Given the description of an element on the screen output the (x, y) to click on. 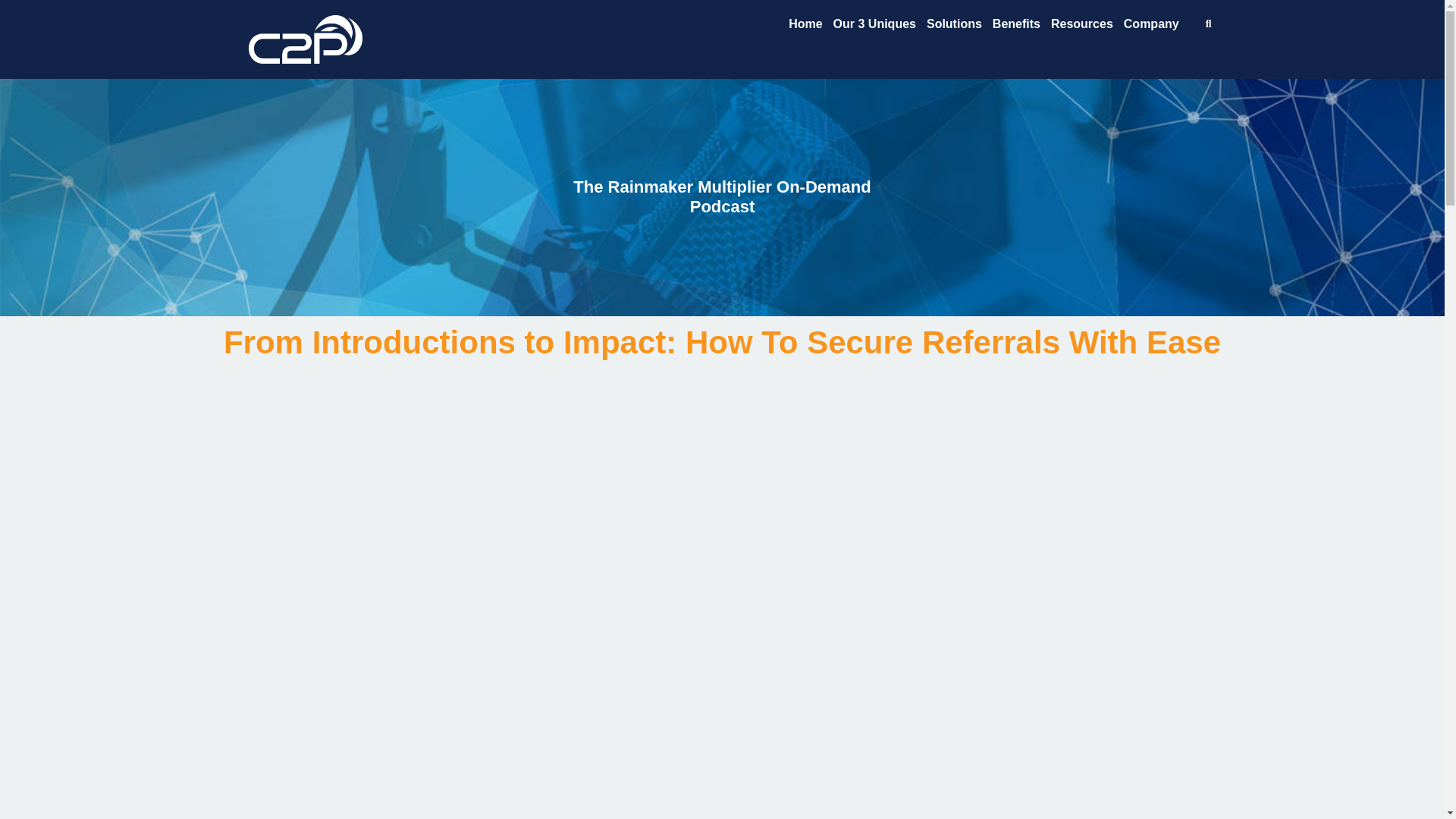
Blubrry Podcast Player (721, 766)
